Given the description of an element on the screen output the (x, y) to click on. 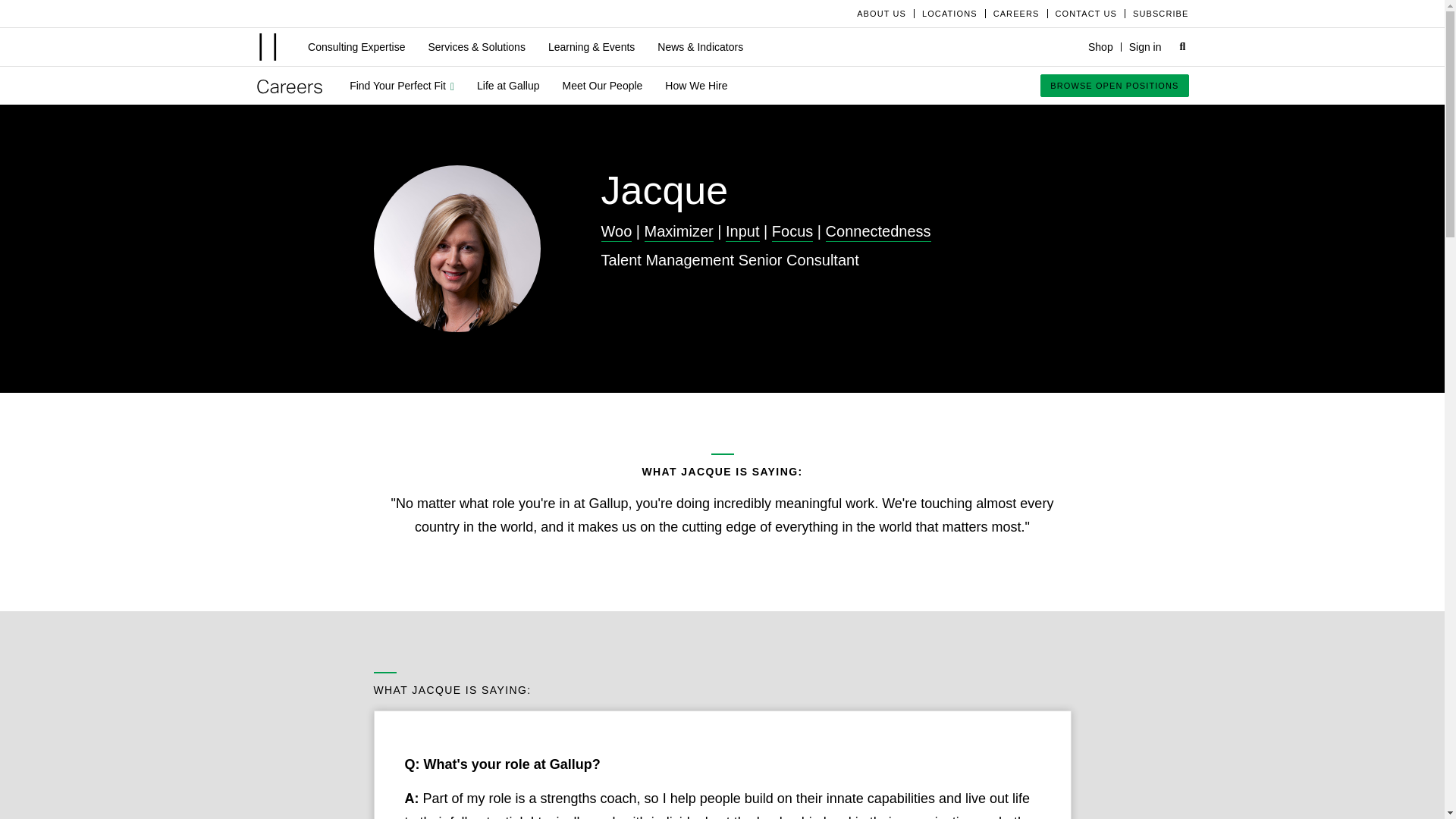
SUBSCRIBE (1156, 13)
LOCATIONS (949, 13)
CAREERS (1015, 13)
Careers (289, 86)
CONTACT US (1085, 13)
ABOUT US (881, 13)
